Given the description of an element on the screen output the (x, y) to click on. 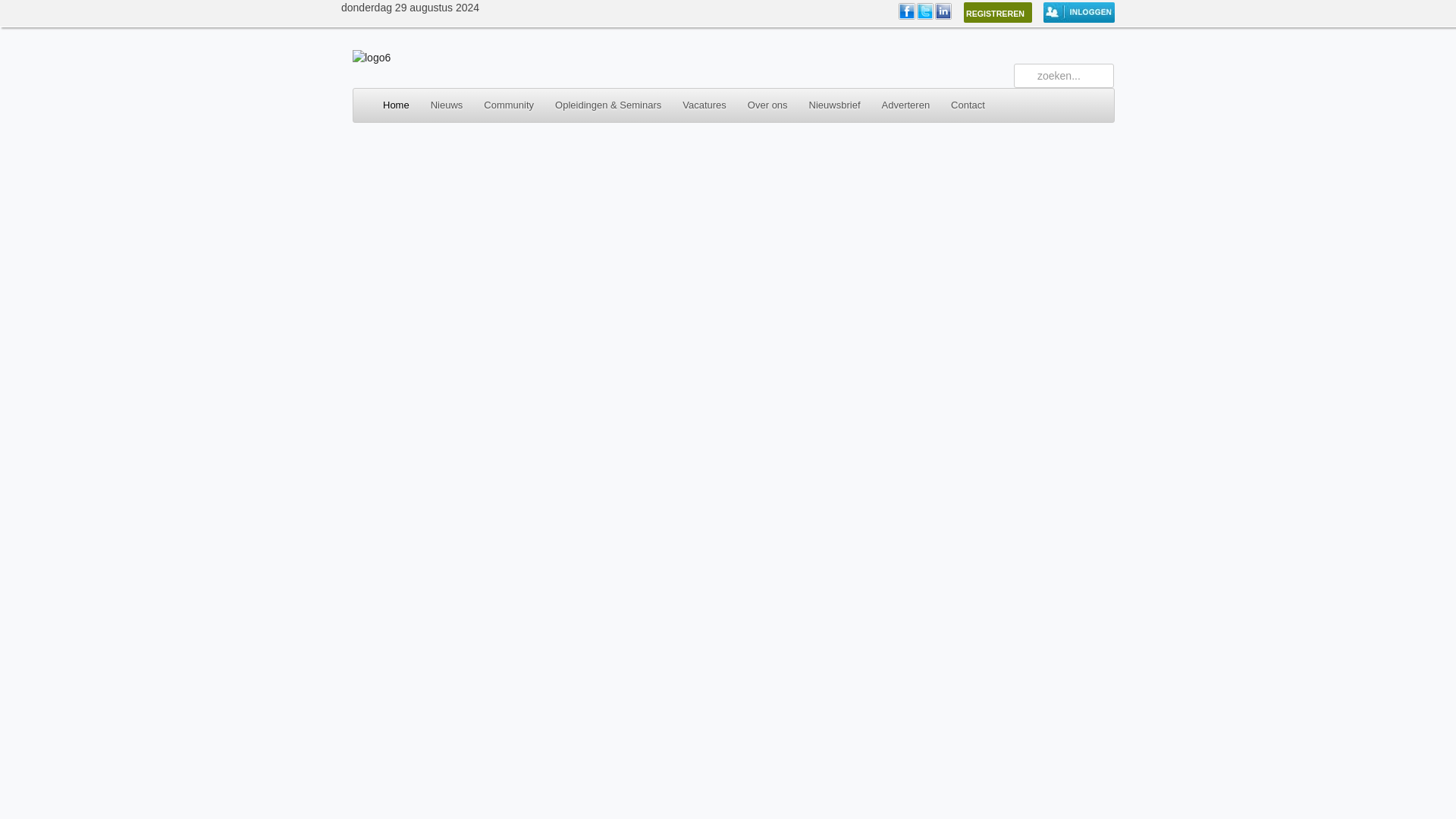
Over ons (766, 105)
Nieuws (447, 105)
Contact (967, 105)
Home (371, 57)
Home (386, 105)
 REGISTREREN (997, 12)
Adverteren (905, 105)
Community (508, 105)
Vacatures (703, 105)
Nieuwsbrief (833, 105)
